Given the description of an element on the screen output the (x, y) to click on. 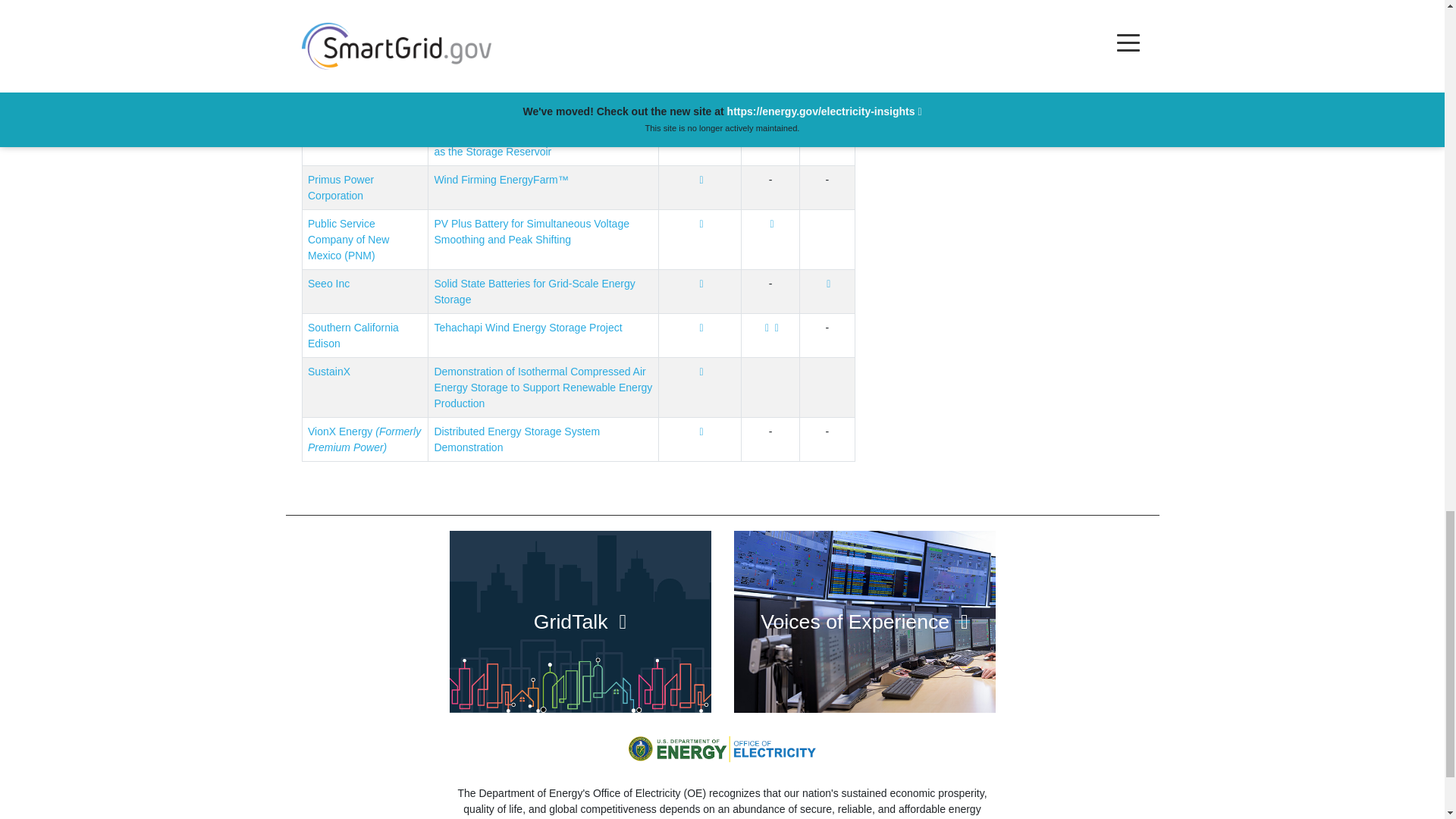
Check out the new Voices of Experience Podcast (864, 621)
Check out the new Grid Talk Podcast (579, 621)
